Given the description of an element on the screen output the (x, y) to click on. 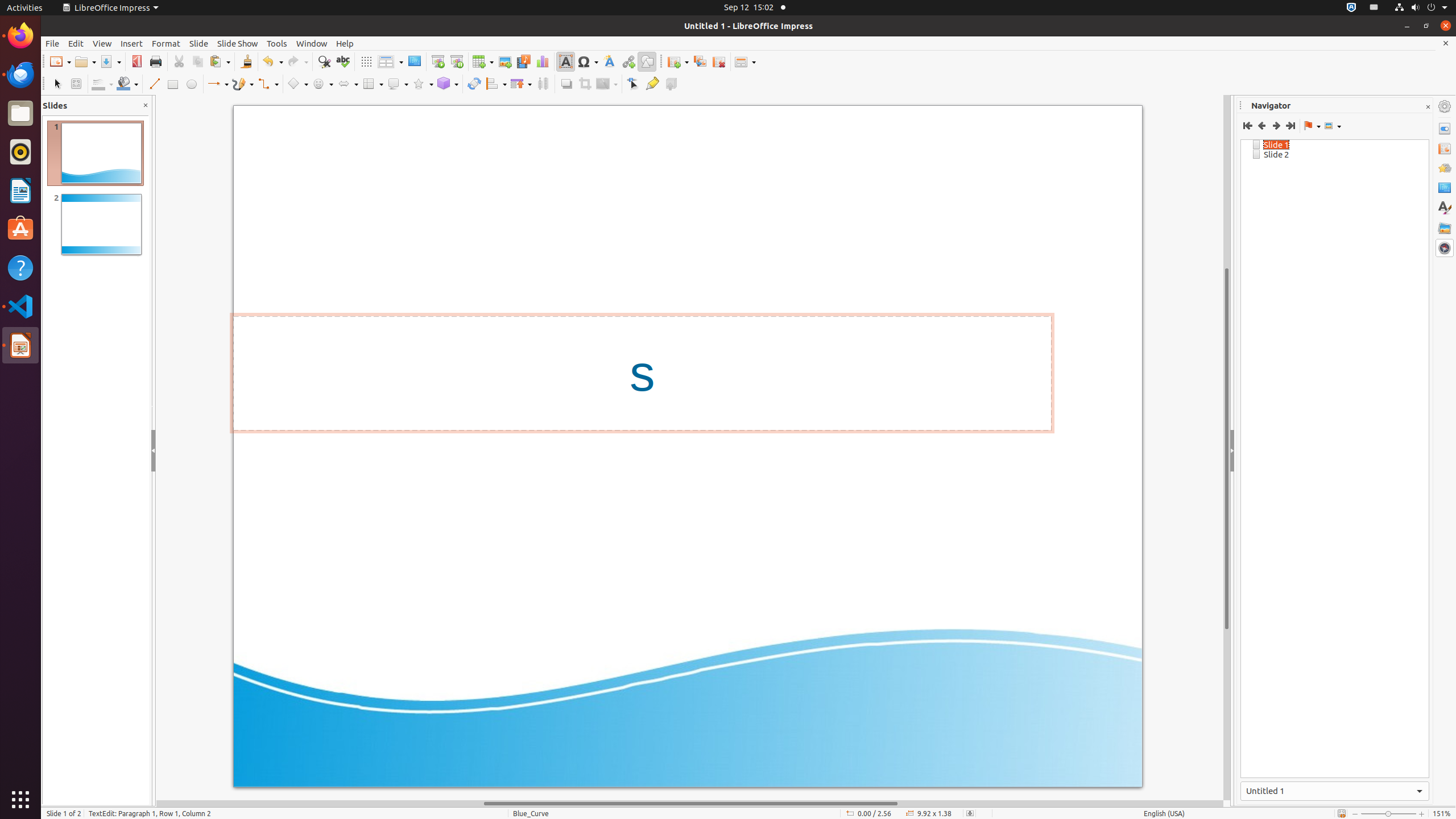
Ubuntu Software Element type: push-button (20, 229)
Curves and Polygons Element type: push-button (242, 83)
Close Sidebar Deck Element type: push-button (1427, 106)
Drag Mode Element type: push-button (1311, 125)
New Element type: push-button (59, 61)
